Given the description of an element on the screen output the (x, y) to click on. 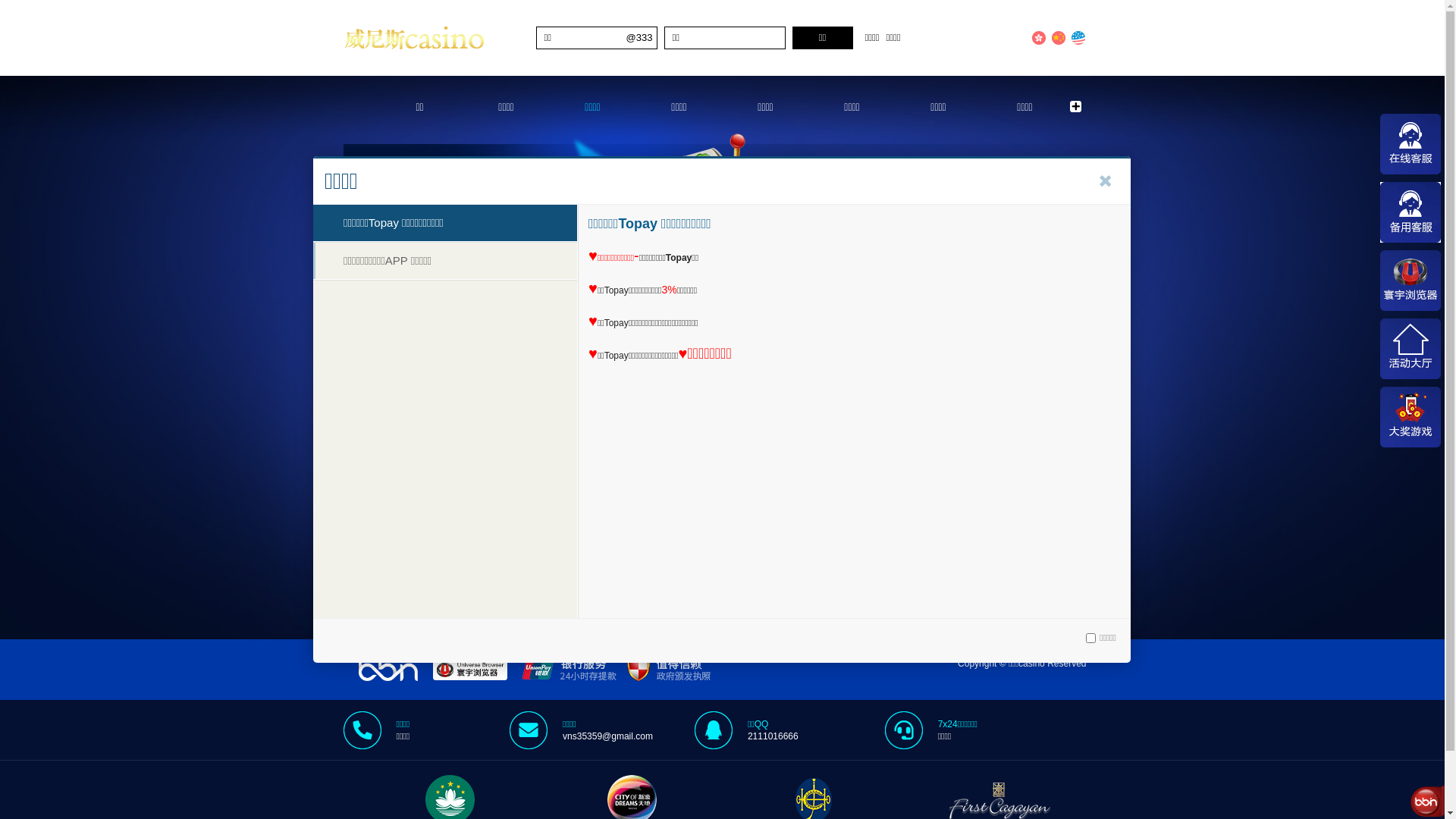
English Element type: hover (1077, 37)
